Given the description of an element on the screen output the (x, y) to click on. 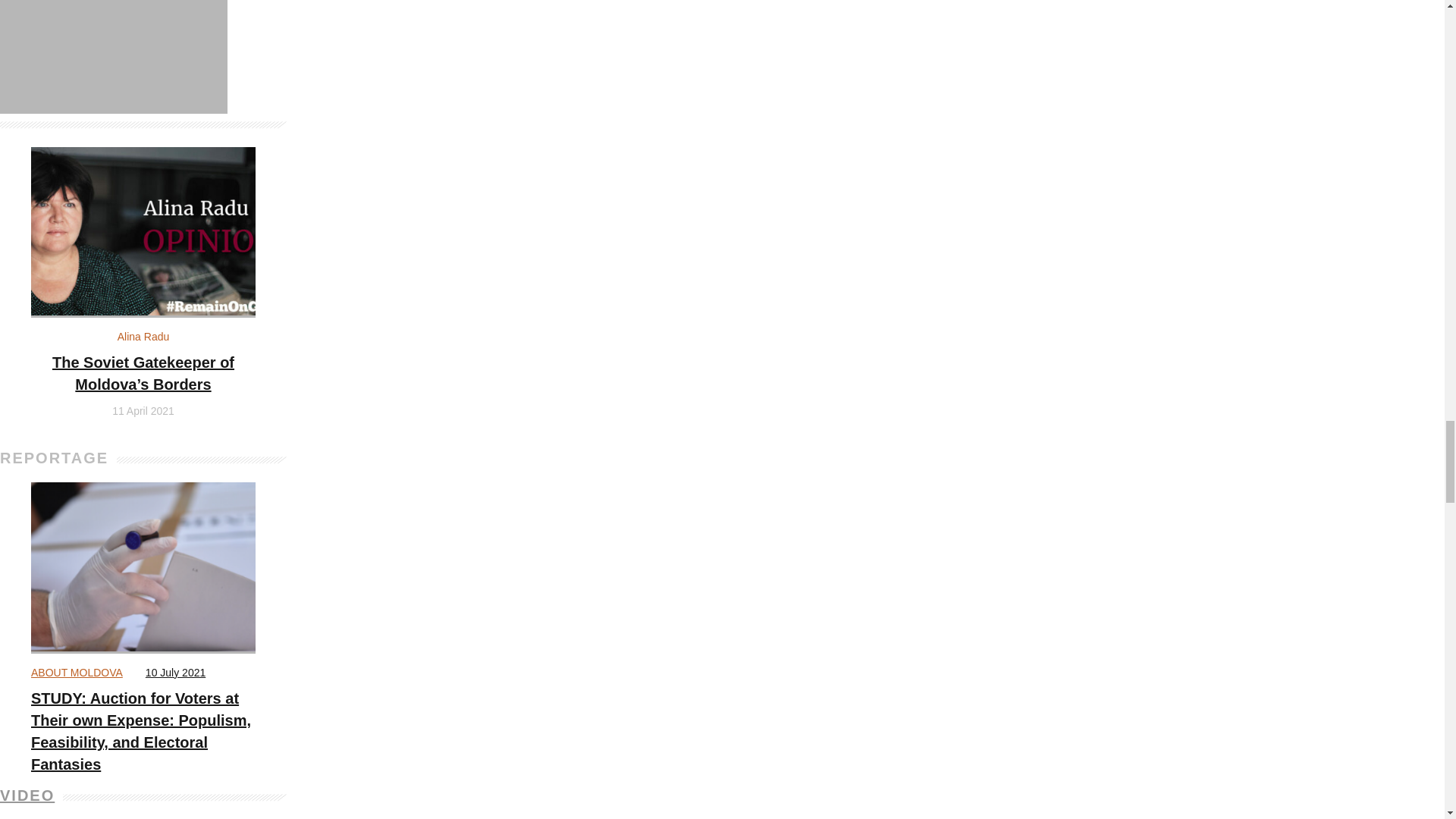
10 July 2021 (175, 672)
ABOUT MOLDOVA (76, 672)
VIDEO (27, 795)
